Given the description of an element on the screen output the (x, y) to click on. 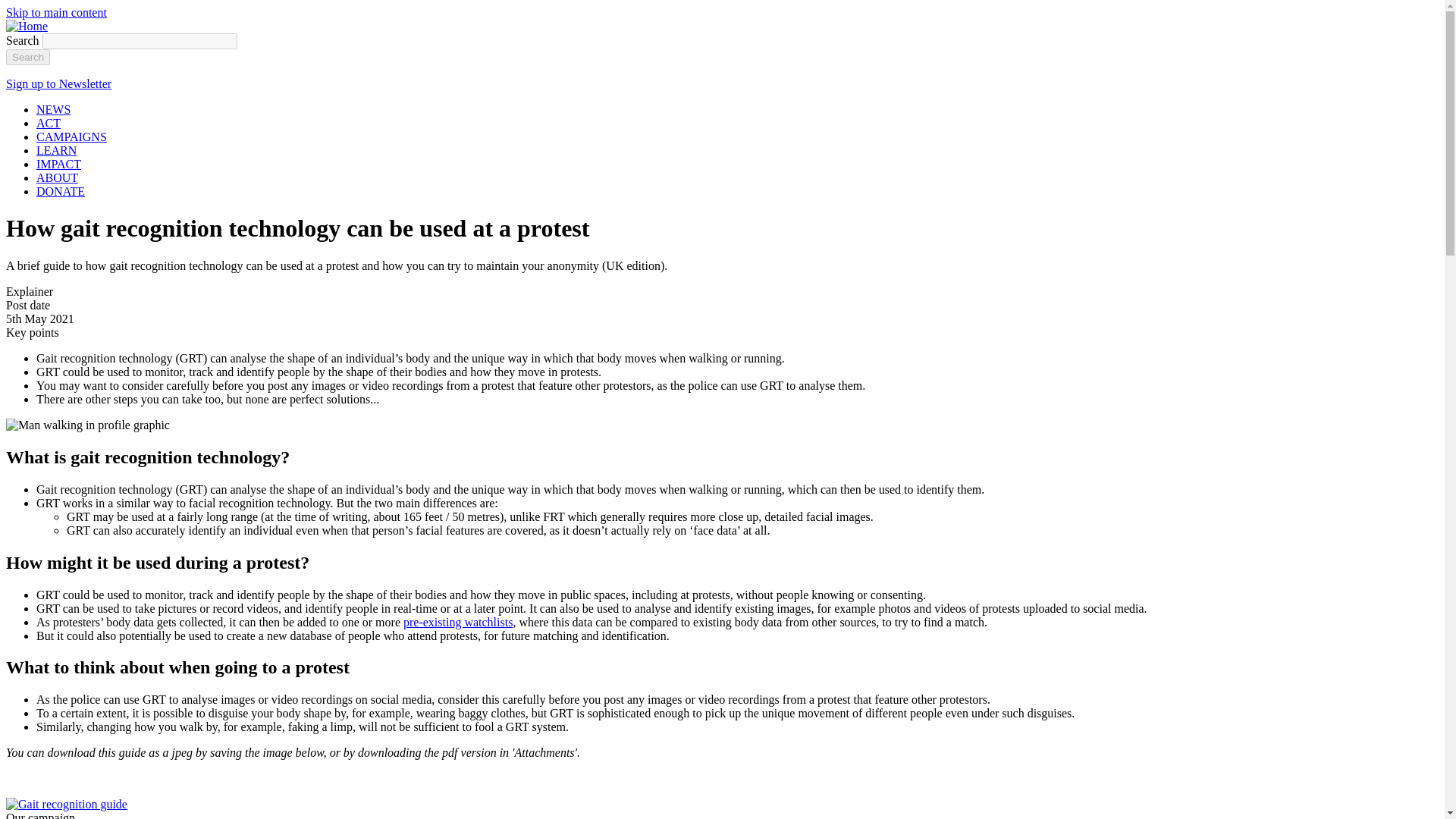
LEARN (56, 150)
DONATE (60, 191)
pre-existing watchlists (457, 621)
NEWS (52, 109)
ABOUT (57, 177)
Skip to main content (55, 11)
CAMPAIGNS (71, 136)
Search (27, 57)
Sign up to Newsletter (58, 83)
Search (27, 57)
IMPACT (58, 164)
ACT (48, 123)
